Given the description of an element on the screen output the (x, y) to click on. 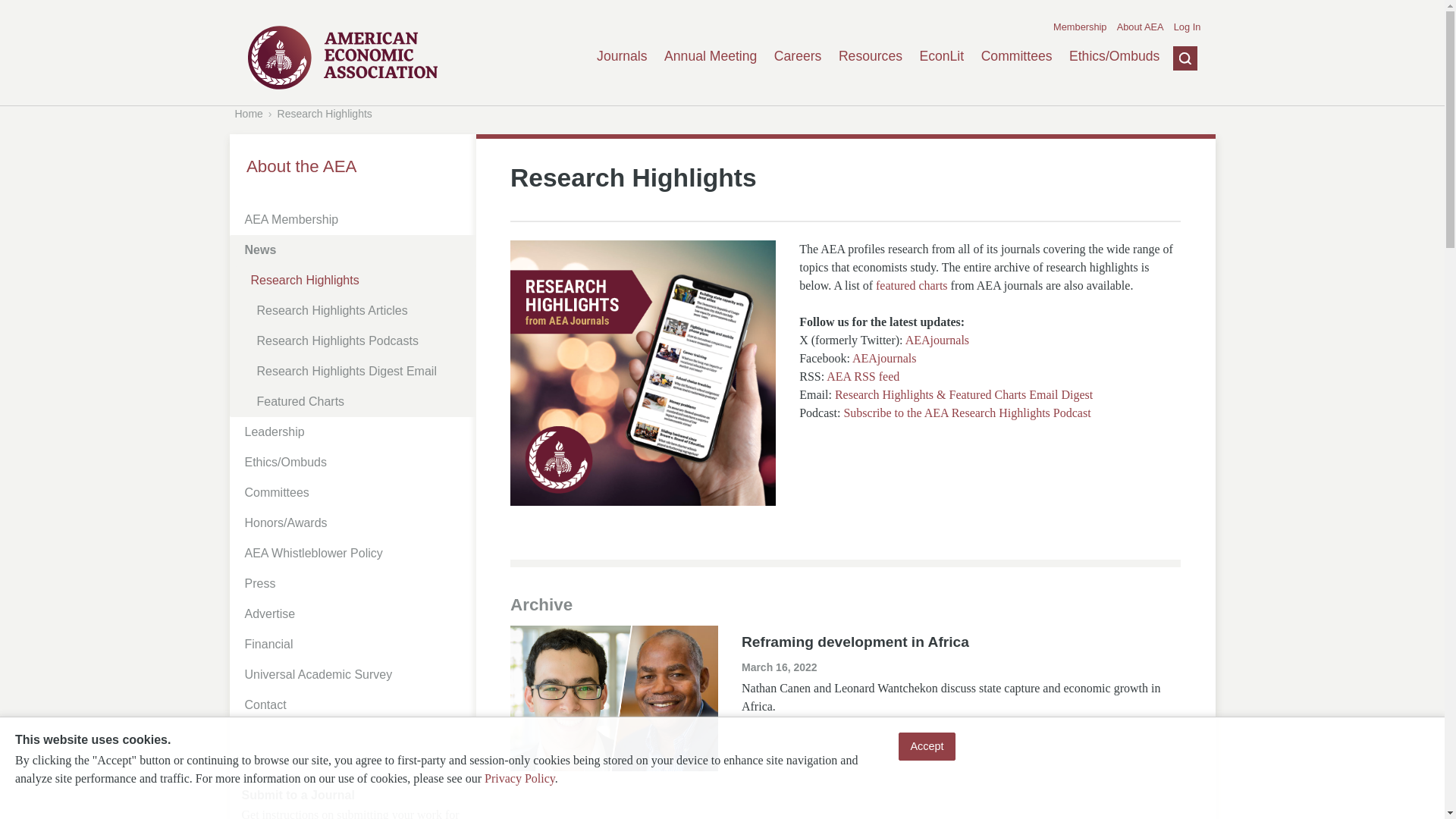
AEAjournals (937, 339)
Research Highlights (325, 113)
About AEA (1139, 26)
EconLit (940, 55)
Search (1173, 131)
Reframing development in Africa (855, 641)
Membership (1079, 26)
Privacy Policy (519, 778)
Annual Meeting (710, 55)
Journals (621, 55)
Log In (1187, 26)
featured charts (911, 285)
AEA RSS feed (863, 376)
Resources (870, 55)
Subscribe to the AEA Research Highlights Podcast (966, 412)
